Given the description of an element on the screen output the (x, y) to click on. 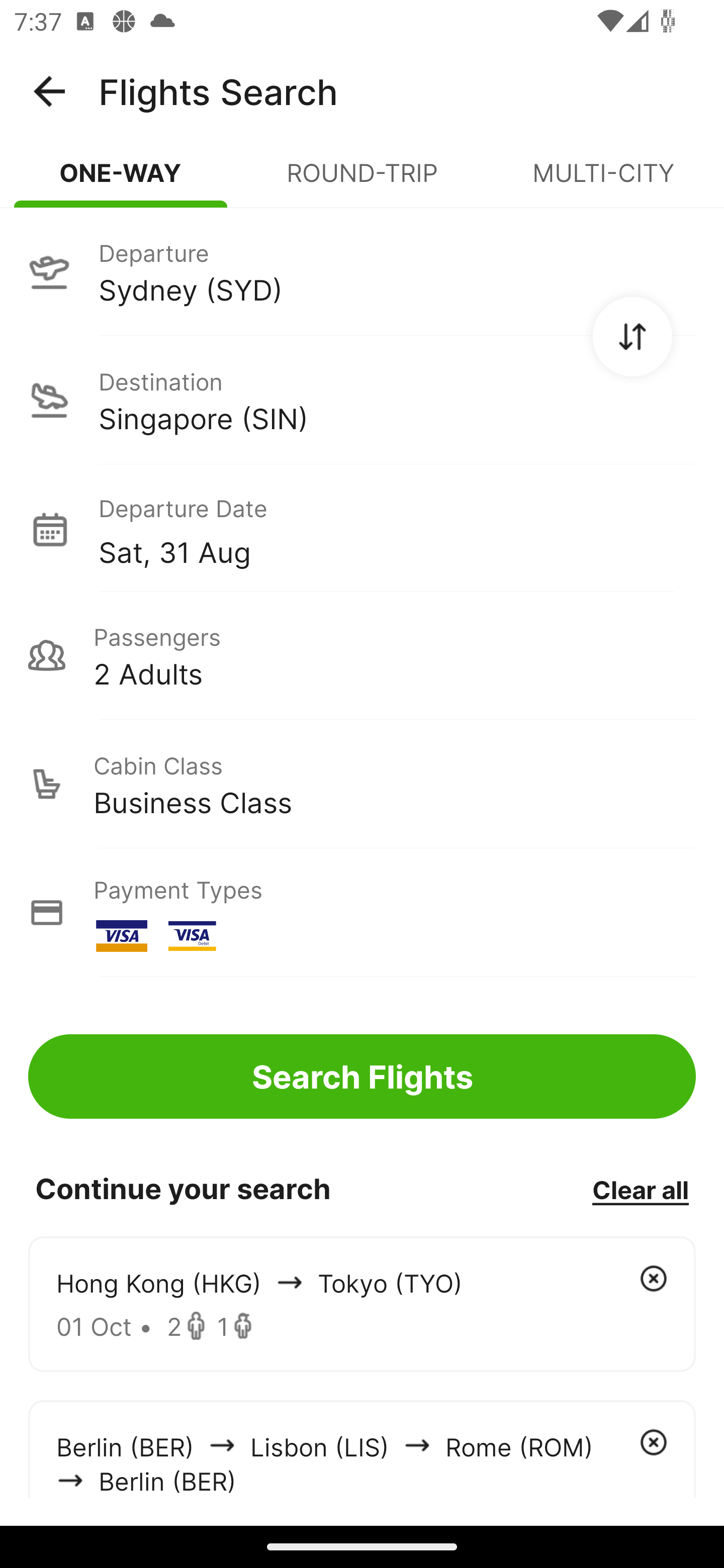
ONE-WAY (120, 180)
ROUND-TRIP (361, 180)
MULTI-CITY (603, 180)
Departure Sydney (SYD) (362, 270)
Destination Singapore (SIN) (362, 400)
Departure Date Sat, 31 Aug (396, 528)
Passengers 2 Adults (362, 655)
Cabin Class Business Class (362, 783)
Payment Types (362, 912)
Search Flights (361, 1075)
Clear all (640, 1189)
